Given the description of an element on the screen output the (x, y) to click on. 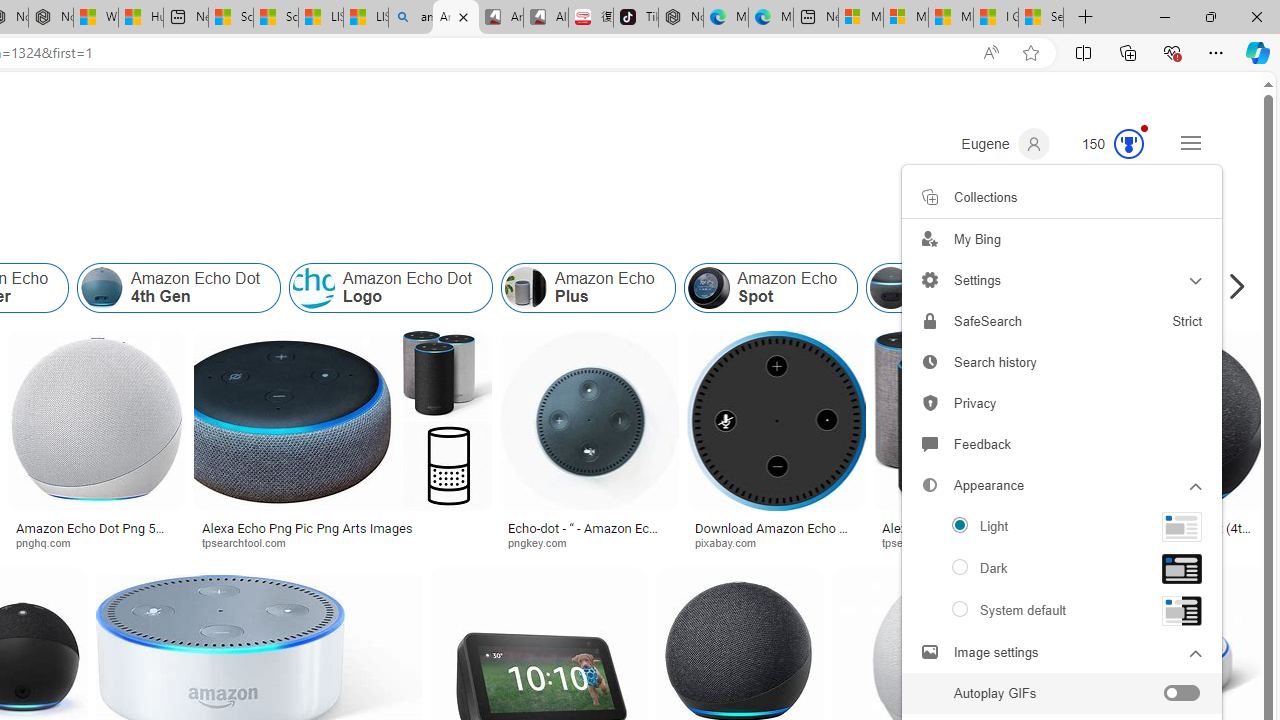
Class: rms_img (1181, 610)
All Cubot phones (545, 17)
Privacy (1062, 403)
Eugene (1005, 143)
Feedback (1062, 444)
Amazon Echo Spot (770, 287)
pnghq.com (49, 541)
TikTok (635, 17)
